Given the description of an element on the screen output the (x, y) to click on. 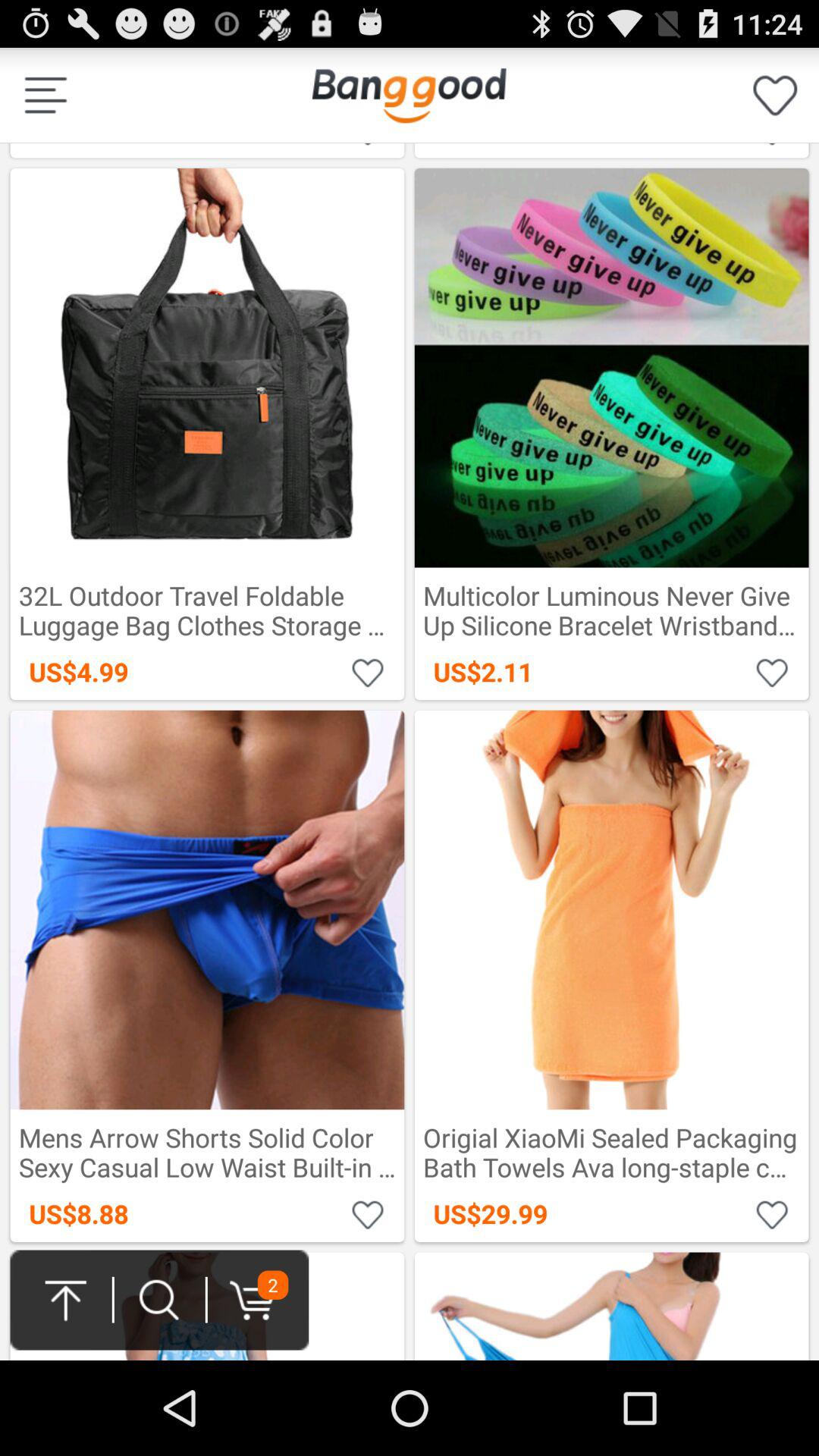
view your likes on banggood (775, 95)
